Given the description of an element on the screen output the (x, y) to click on. 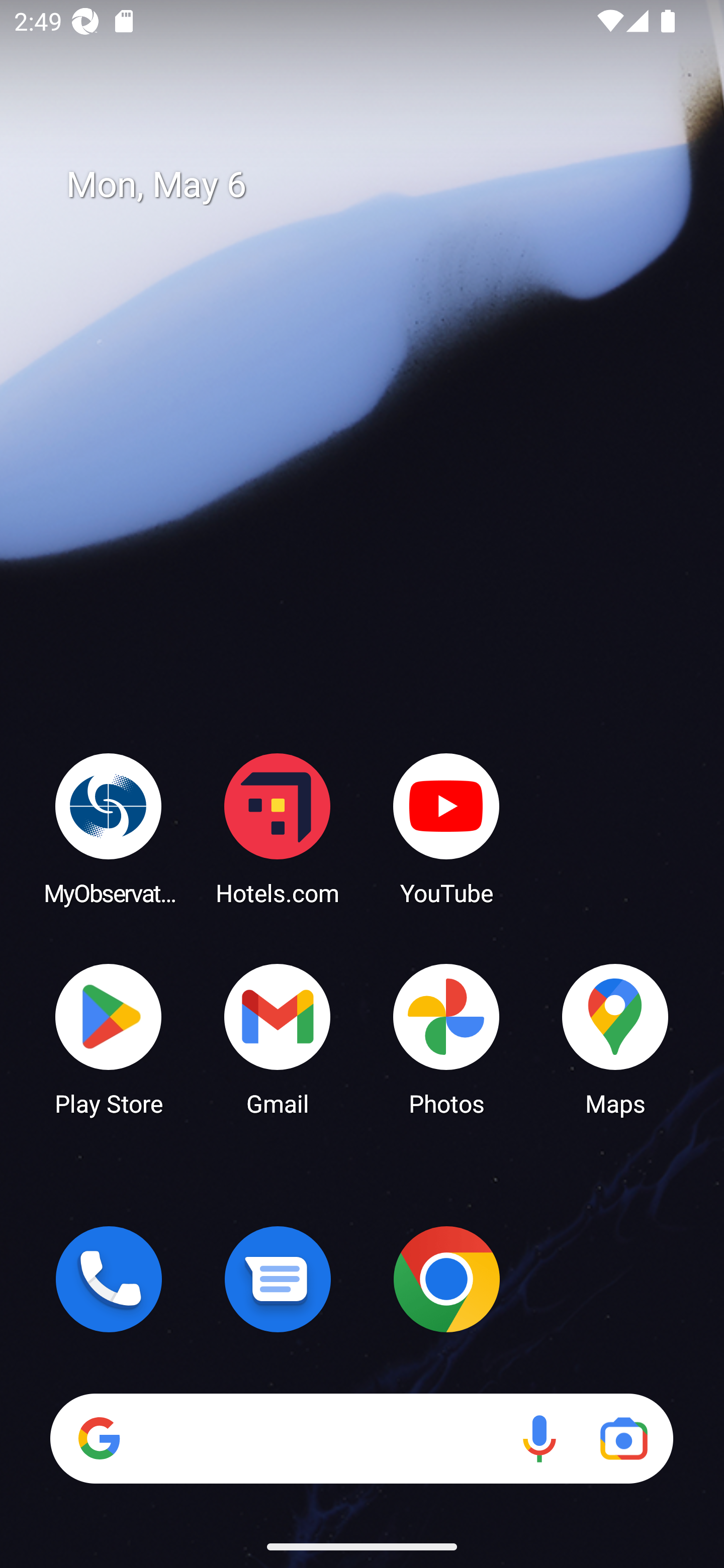
Mon, May 6 (375, 184)
MyObservatory (108, 828)
Hotels.com (277, 828)
YouTube (445, 828)
Play Store (108, 1038)
Gmail (277, 1038)
Photos (445, 1038)
Maps (615, 1038)
Phone (108, 1279)
Messages (277, 1279)
Chrome (446, 1279)
Search Voice search Google Lens (361, 1438)
Voice search (539, 1438)
Google Lens (623, 1438)
